Given the description of an element on the screen output the (x, y) to click on. 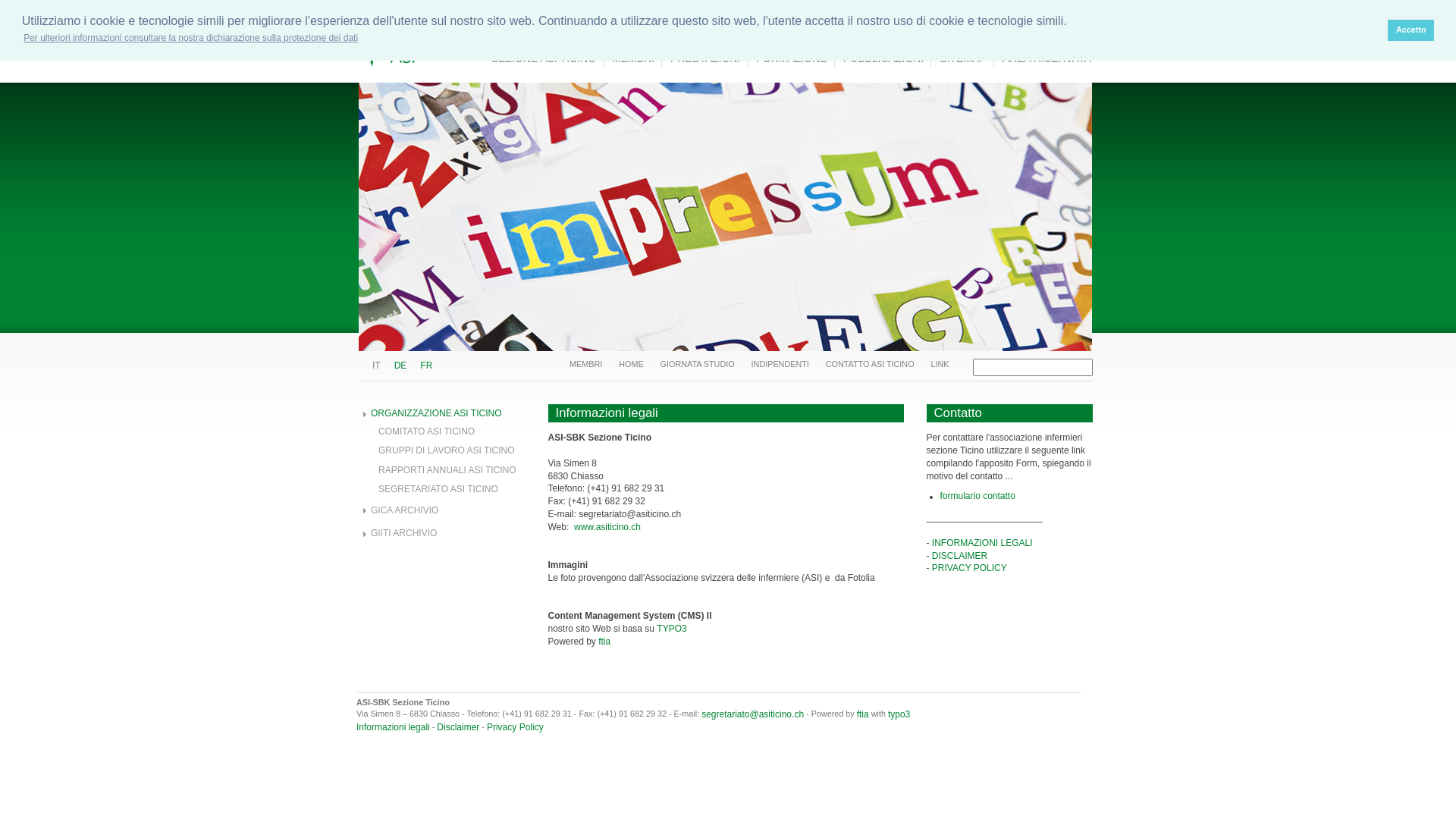
segretariato@asiticino.ch Element type: text (752, 714)
FR Element type: text (426, 365)
GRUPPI DI LAVORO ASI TICINO Element type: text (446, 450)
TYPO3 Element type: text (671, 628)
AREA RISERVATA Element type: text (1046, 58)
SITEMAP Element type: text (962, 58)
CONTATTO ASI TICINO Element type: text (869, 363)
ftia Element type: text (862, 714)
ORGANIZZAZIONE ASI TICINO Element type: text (435, 412)
www.asiticino.ch Element type: text (607, 526)
SEZIONE ASI TICINO Element type: text (543, 58)
PRIVACY POLICY Element type: text (969, 567)
GIORNATA STUDIO Element type: text (697, 363)
GICA ARCHIVIO Element type: text (404, 510)
SEGRETARIATO ASI TICINO Element type: text (438, 488)
DISCLAIMER Element type: text (959, 555)
ftia Element type: text (604, 641)
DE Element type: text (400, 365)
MEMBRI Element type: text (585, 363)
LINK Element type: text (940, 363)
INDIPENDENTI Element type: text (780, 363)
FORMAZIONE Element type: text (791, 58)
COMITATO ASI TICINO Element type: text (426, 431)
Privacy Policy Element type: text (514, 726)
Informazioni legali Element type: text (392, 726)
typo3 Element type: text (899, 714)
Accetto Element type: text (1410, 29)
GIITI ARCHIVIO Element type: text (403, 532)
Disclaimer Element type: text (457, 726)
MEMBRI Element type: text (633, 58)
ASI - SBK Sezione Ticino Element type: text (495, 40)
RAPPORTI ANNUALI ASI TICINO Element type: text (447, 469)
PUBBLICAZIONI Element type: text (883, 58)
HOME Element type: text (630, 363)
PRESTAZIONI Element type: text (705, 58)
formulario contatto Element type: text (977, 495)
INFORMAZIONI LEGALI Element type: text (981, 542)
